Given the description of an element on the screen output the (x, y) to click on. 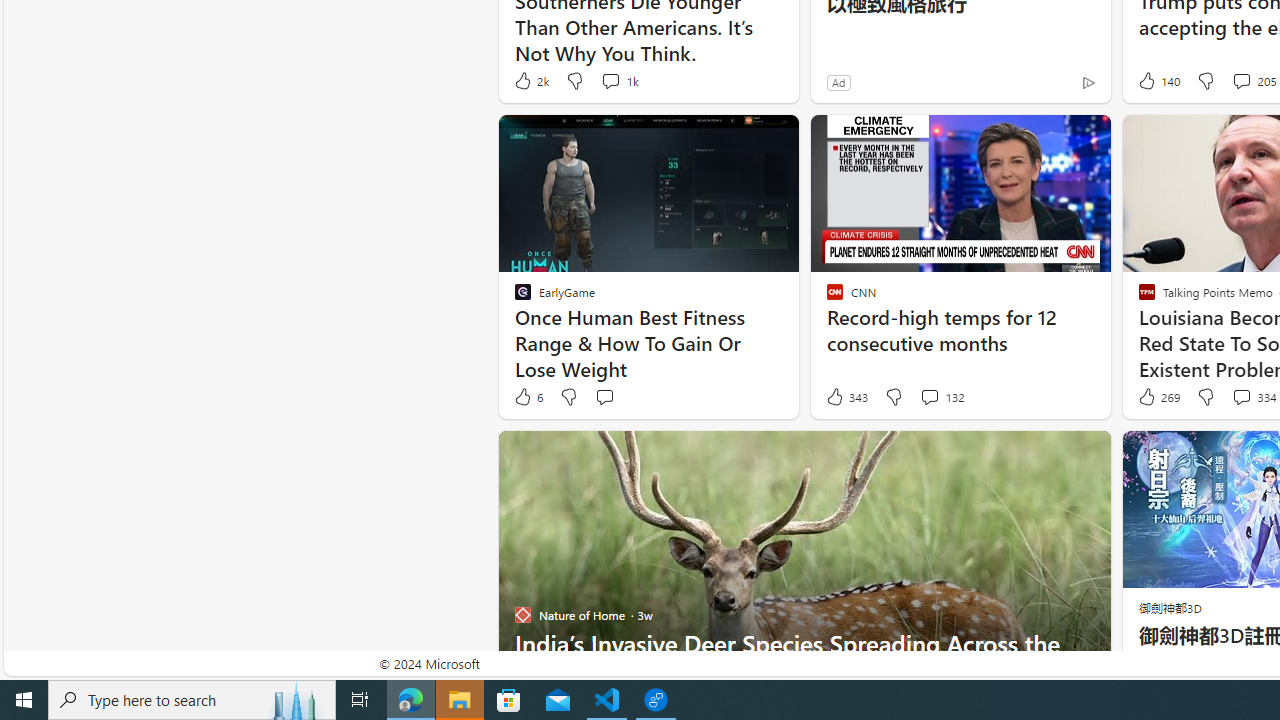
269 Like (1157, 397)
2k Like (530, 80)
